Given the description of an element on the screen output the (x, y) to click on. 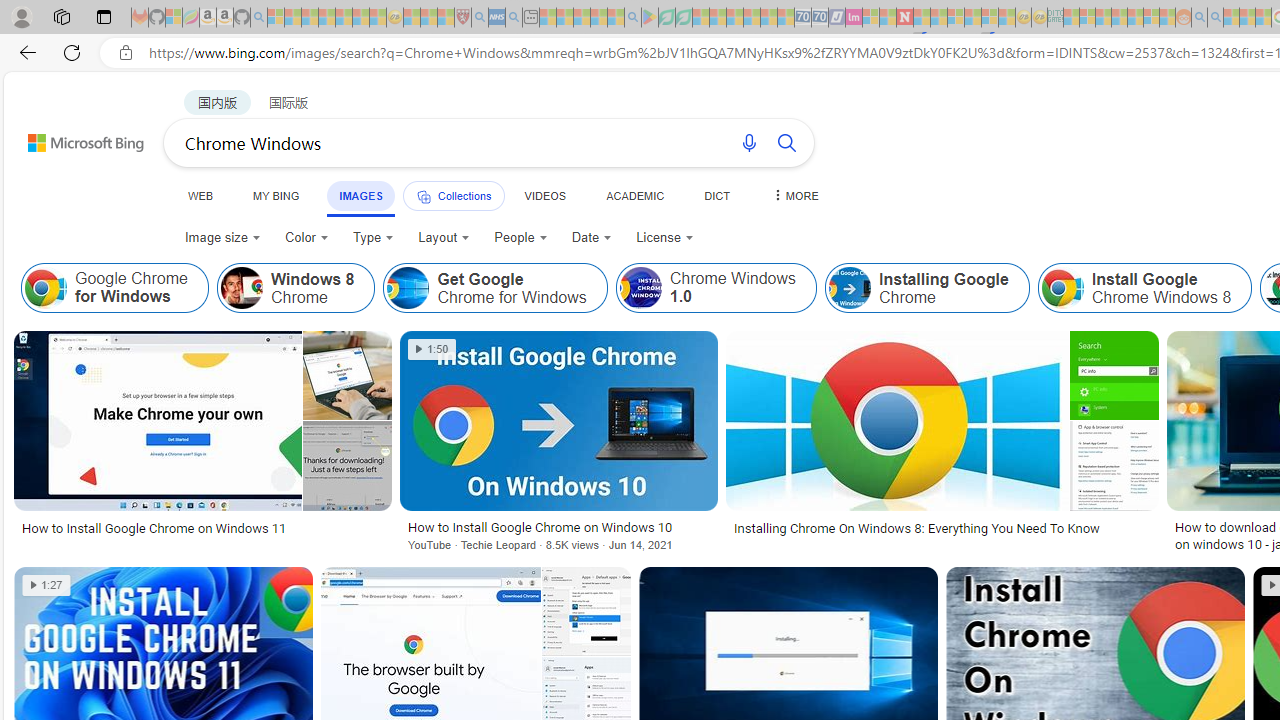
Bluey: Let's Play! - Apps on Google Play - Sleeping (649, 17)
Back to Bing search (73, 138)
Installing Google Chrome (927, 287)
Search button (786, 142)
People (520, 237)
New tab - Sleeping (530, 17)
Get Google Chrome for Windows (408, 287)
Layout (443, 237)
Installing Chrome On Windows 8: Everything You Need To Know (941, 528)
DITOGAMES AG Imprint - Sleeping (1055, 17)
